Given the description of an element on the screen output the (x, y) to click on. 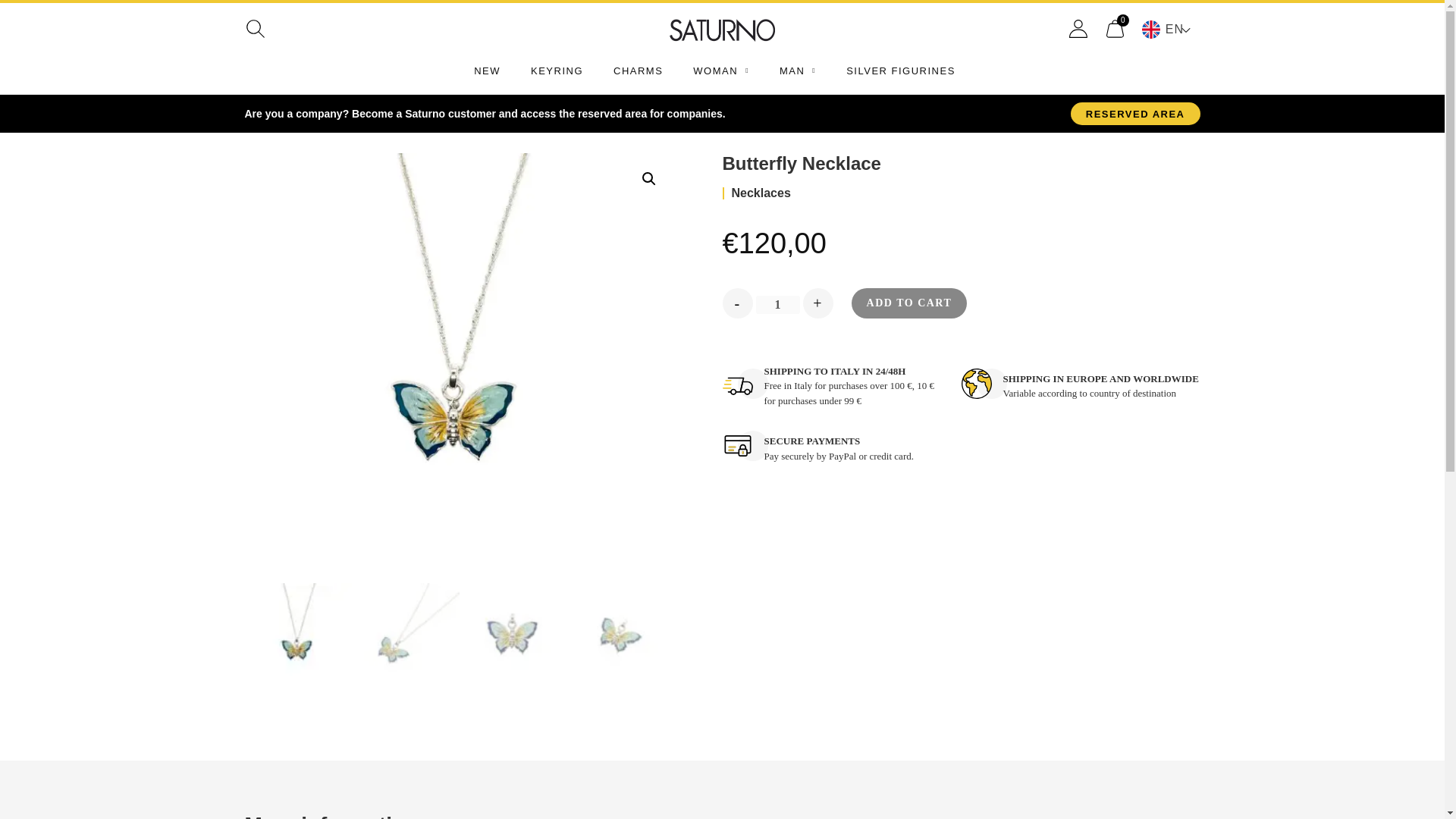
CHARMS (637, 70)
KEYRING (557, 70)
0 (1114, 29)
WOMAN (721, 70)
NEW (487, 70)
EN (1170, 28)
1 (777, 304)
